Given the description of an element on the screen output the (x, y) to click on. 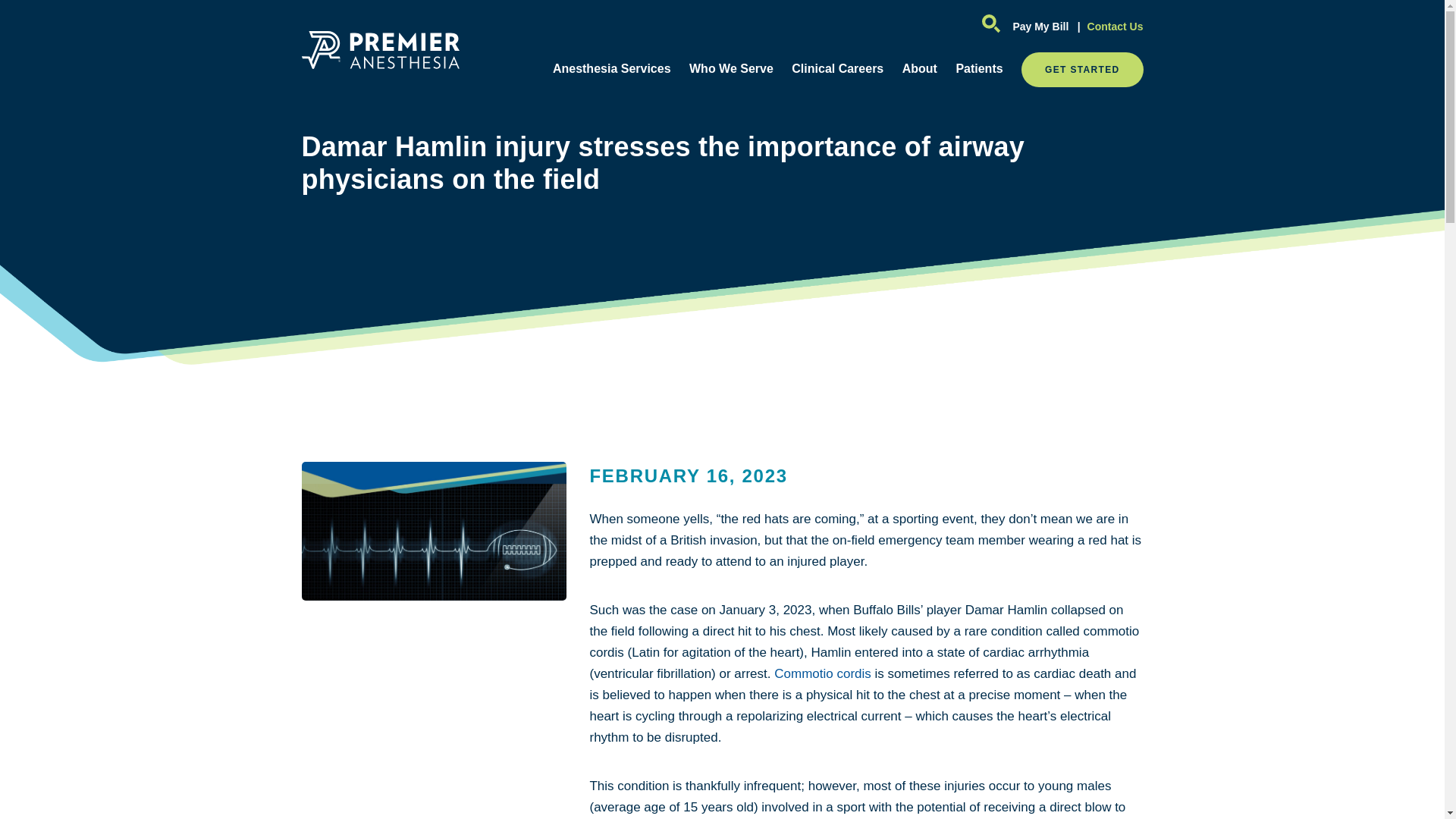
Clinical Careers (837, 68)
Contact Us (1106, 25)
Patients (979, 68)
Search (987, 25)
Search Button (991, 26)
Pay My Bill (1039, 25)
Anesthesia Services (612, 68)
About (919, 68)
GET STARTED (1082, 69)
Who We Serve (730, 68)
